Given the description of an element on the screen output the (x, y) to click on. 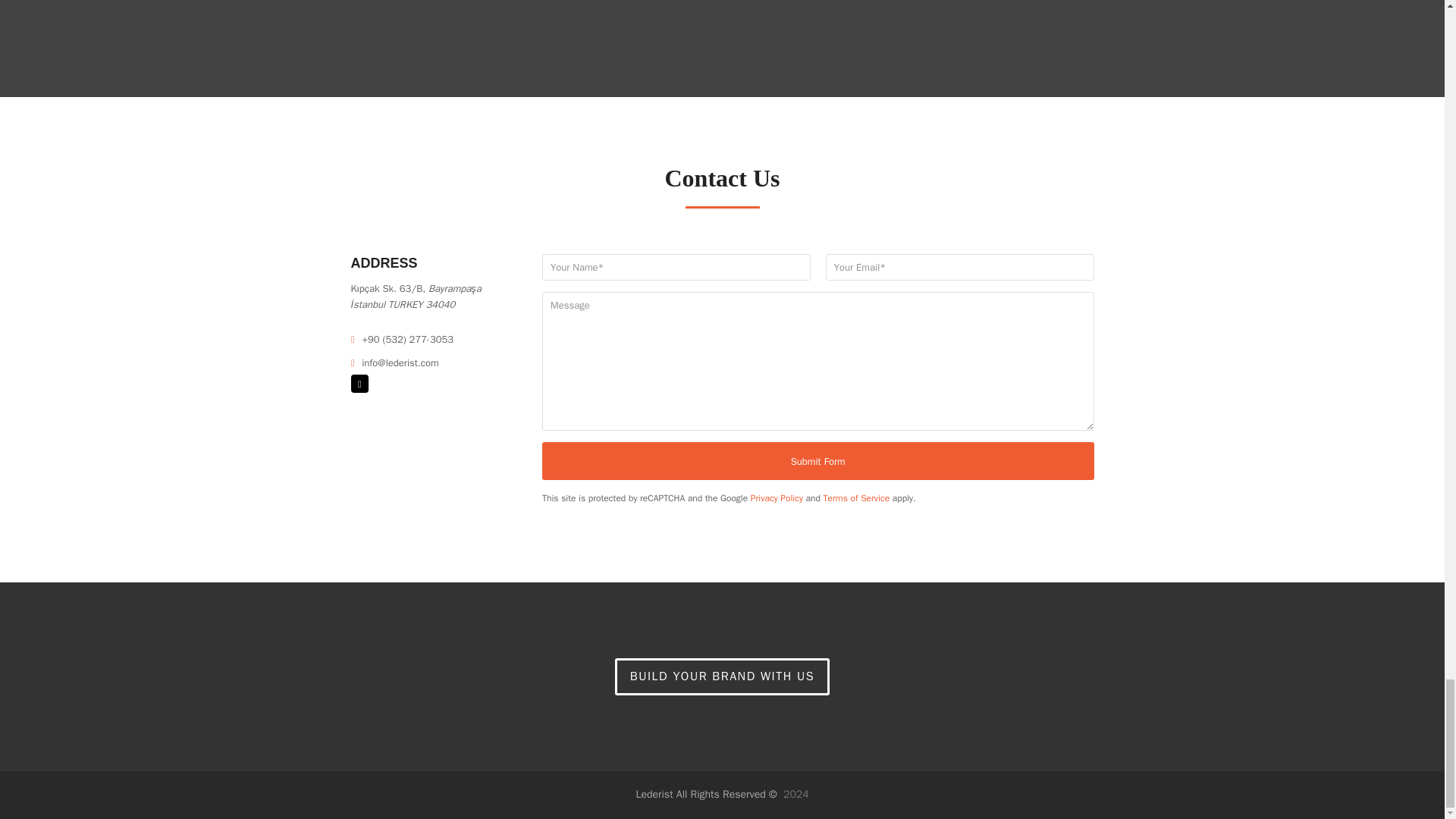
Email (359, 383)
WholeSale Wallets (721, 677)
Terms of Service (856, 498)
Email (359, 383)
Privacy Policy (777, 498)
Lederist (706, 793)
BUILD YOUR BRAND WITH US (721, 677)
Submit Form (817, 460)
